Given the description of an element on the screen output the (x, y) to click on. 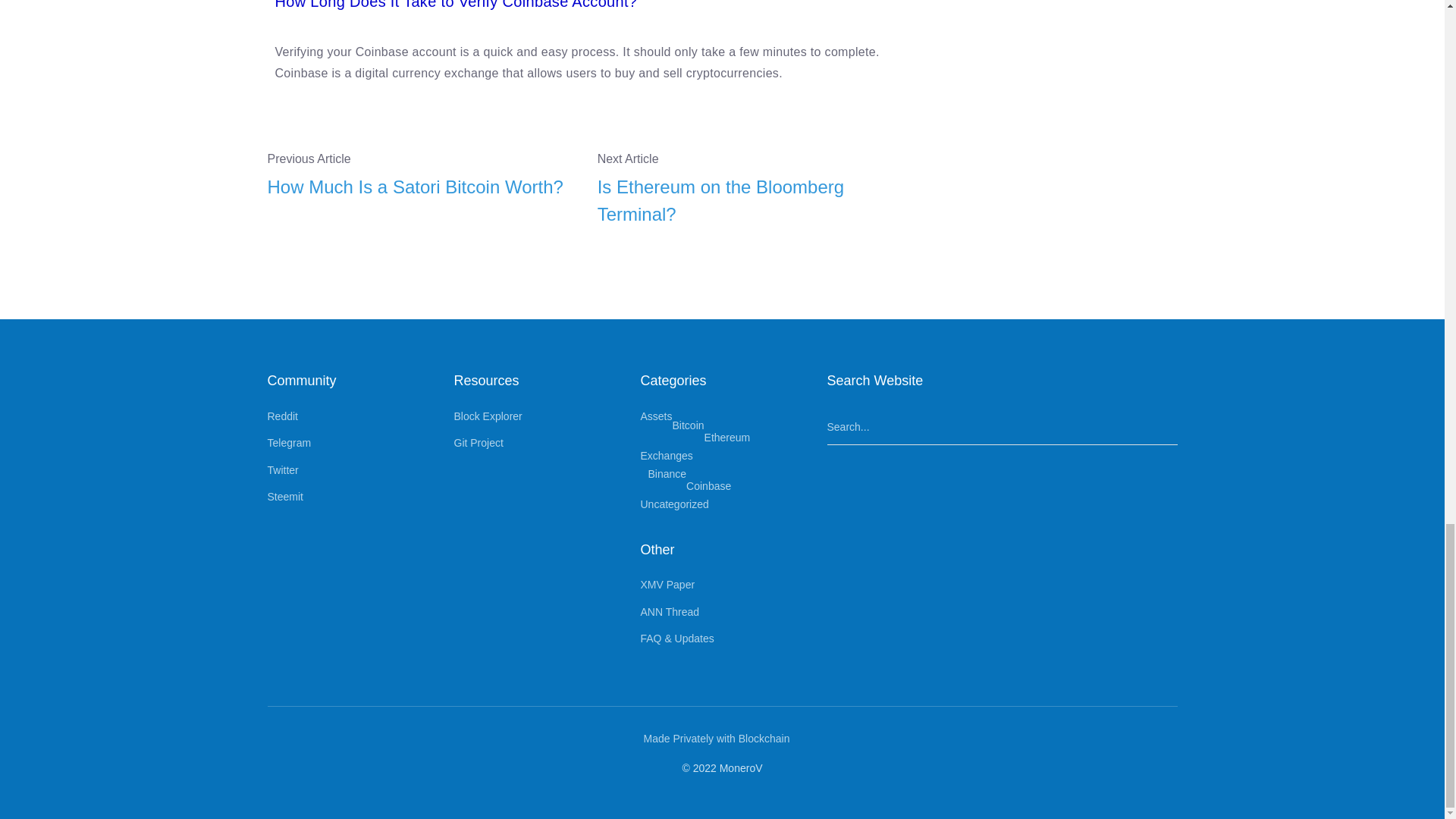
Telegram (288, 442)
Steemit (284, 496)
Twitter (282, 469)
Search... (1001, 427)
How Much Is a Satori Bitcoin Worth? (419, 186)
How Long Does It Take to Verify Coinbase Account? (456, 4)
Search... (1001, 427)
Is Ethereum on the Bloomberg Terminal? (750, 200)
Reddit (281, 416)
